Given the description of an element on the screen output the (x, y) to click on. 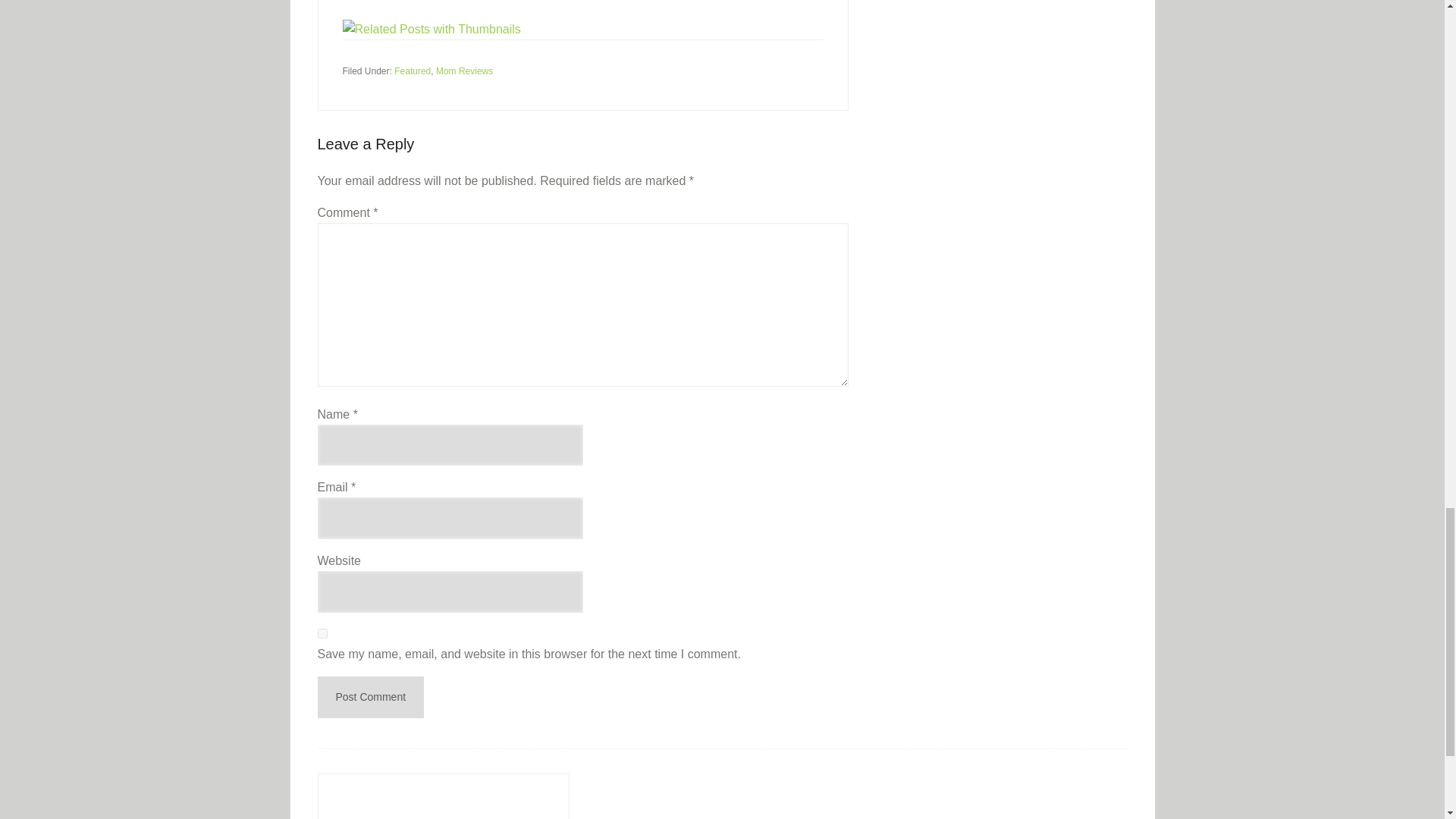
Post Comment (370, 697)
yes (321, 633)
Featured (412, 71)
Post Comment (370, 697)
Mom Reviews (464, 71)
